Given the description of an element on the screen output the (x, y) to click on. 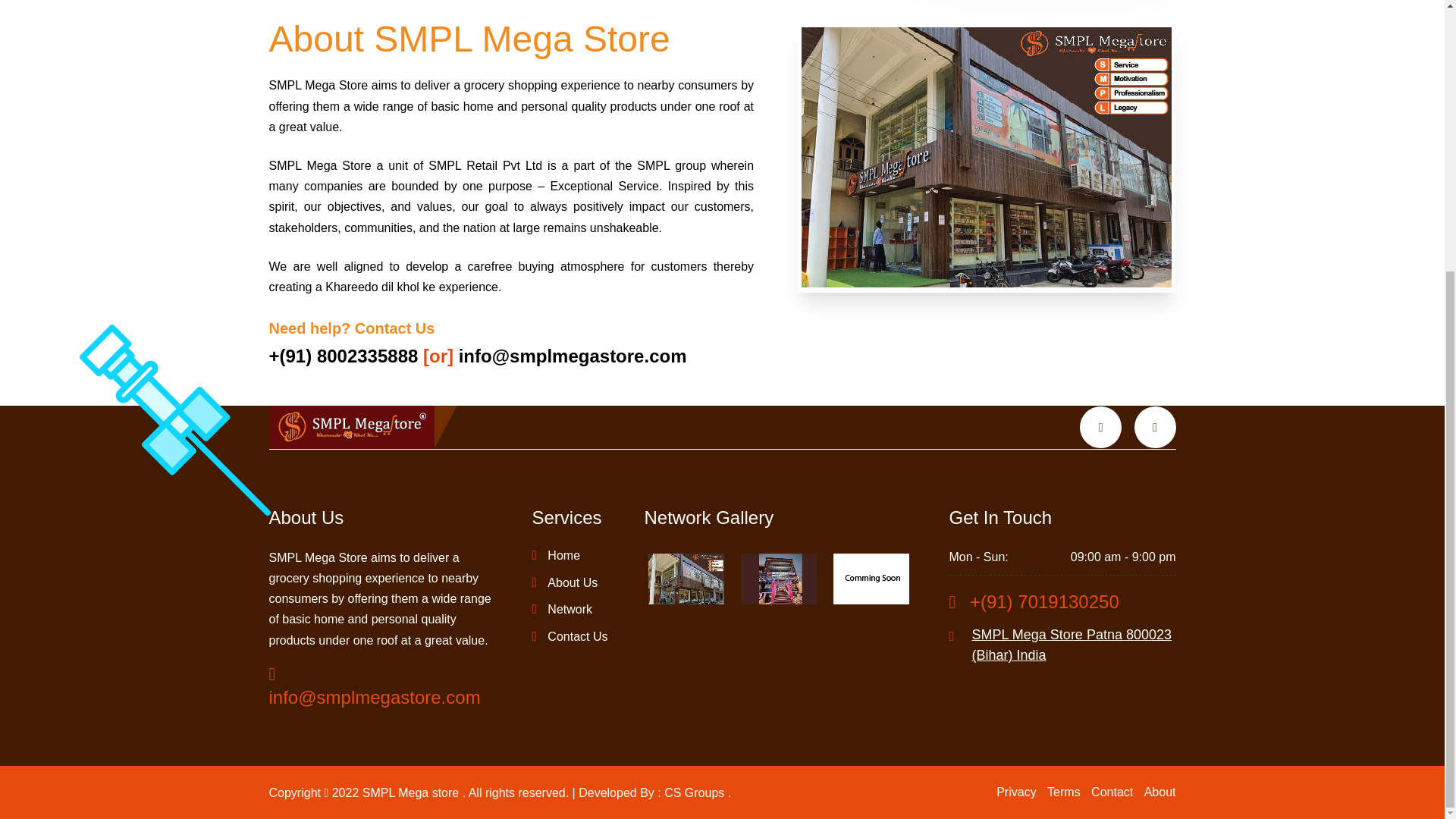
Contact Us (569, 636)
About Us (563, 582)
Home (555, 555)
Network (561, 609)
